Given the description of an element on the screen output the (x, y) to click on. 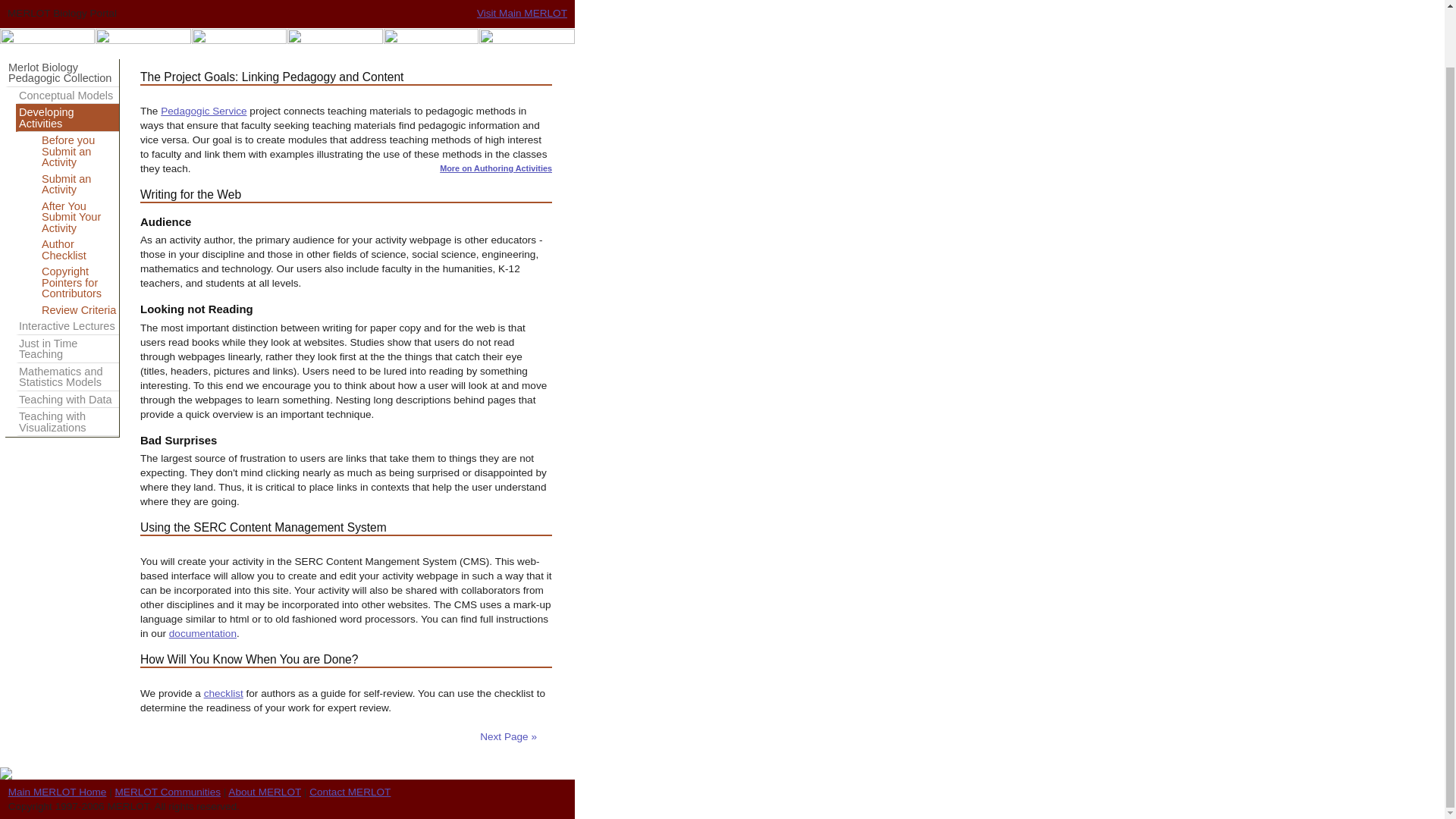
Before you Submit an Activity (73, 150)
Teaching with Data (67, 399)
Review Criteria (73, 310)
After You Submit Your Activity (73, 217)
Copyright Pointers for Contributors (73, 282)
Main MERLOT Home (57, 791)
Submit an Activity (73, 184)
Mathematics and Statistics Models (67, 377)
Developing Activities (67, 117)
Contact MERLOT (349, 791)
